Given the description of an element on the screen output the (x, y) to click on. 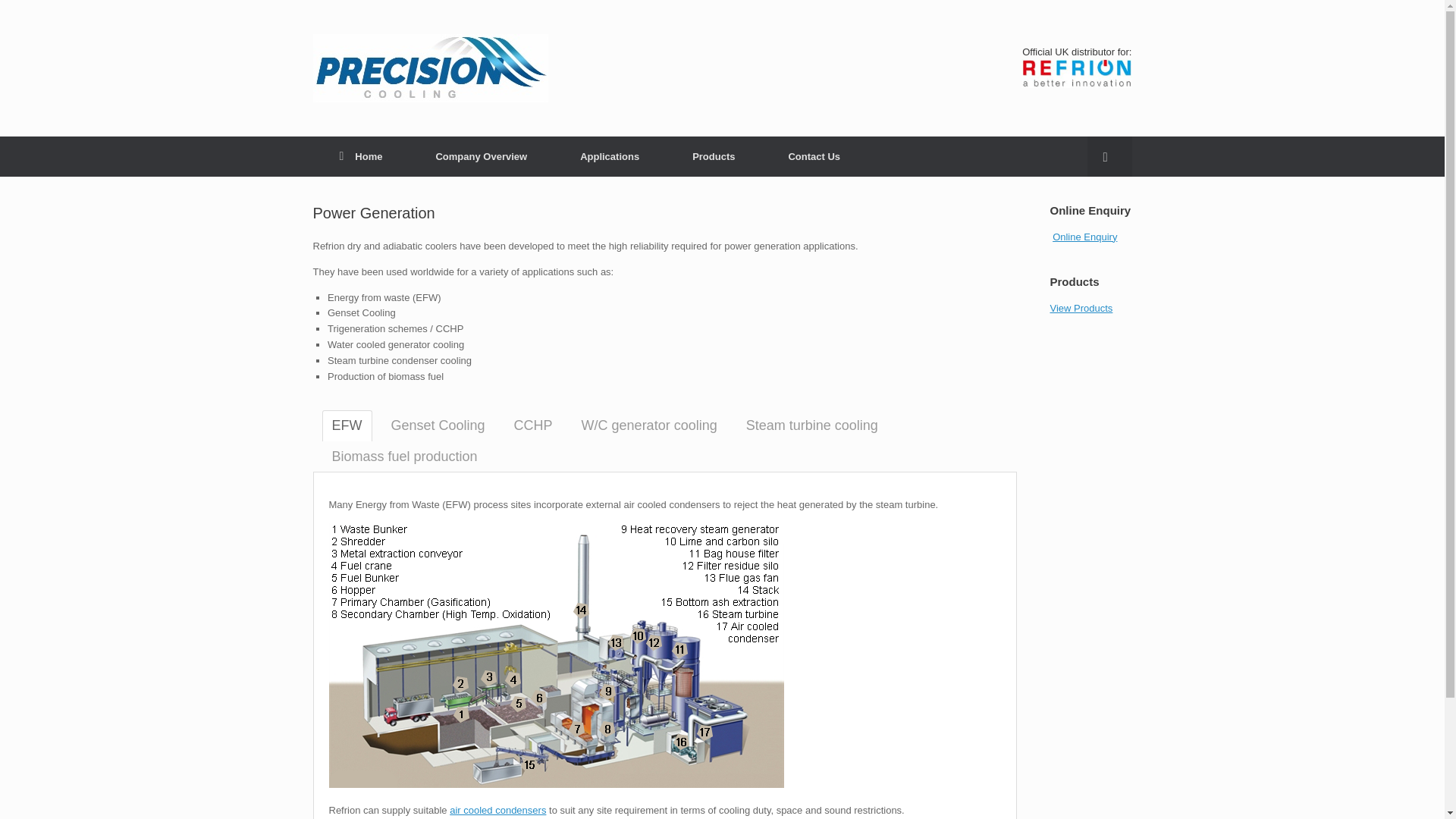
air cooled condensers (497, 809)
View Products (1080, 307)
Contact Us (813, 156)
Company Overview (481, 156)
Products (713, 156)
Applications (609, 156)
Online Enquiry (1084, 235)
Home (361, 156)
